Given the description of an element on the screen output the (x, y) to click on. 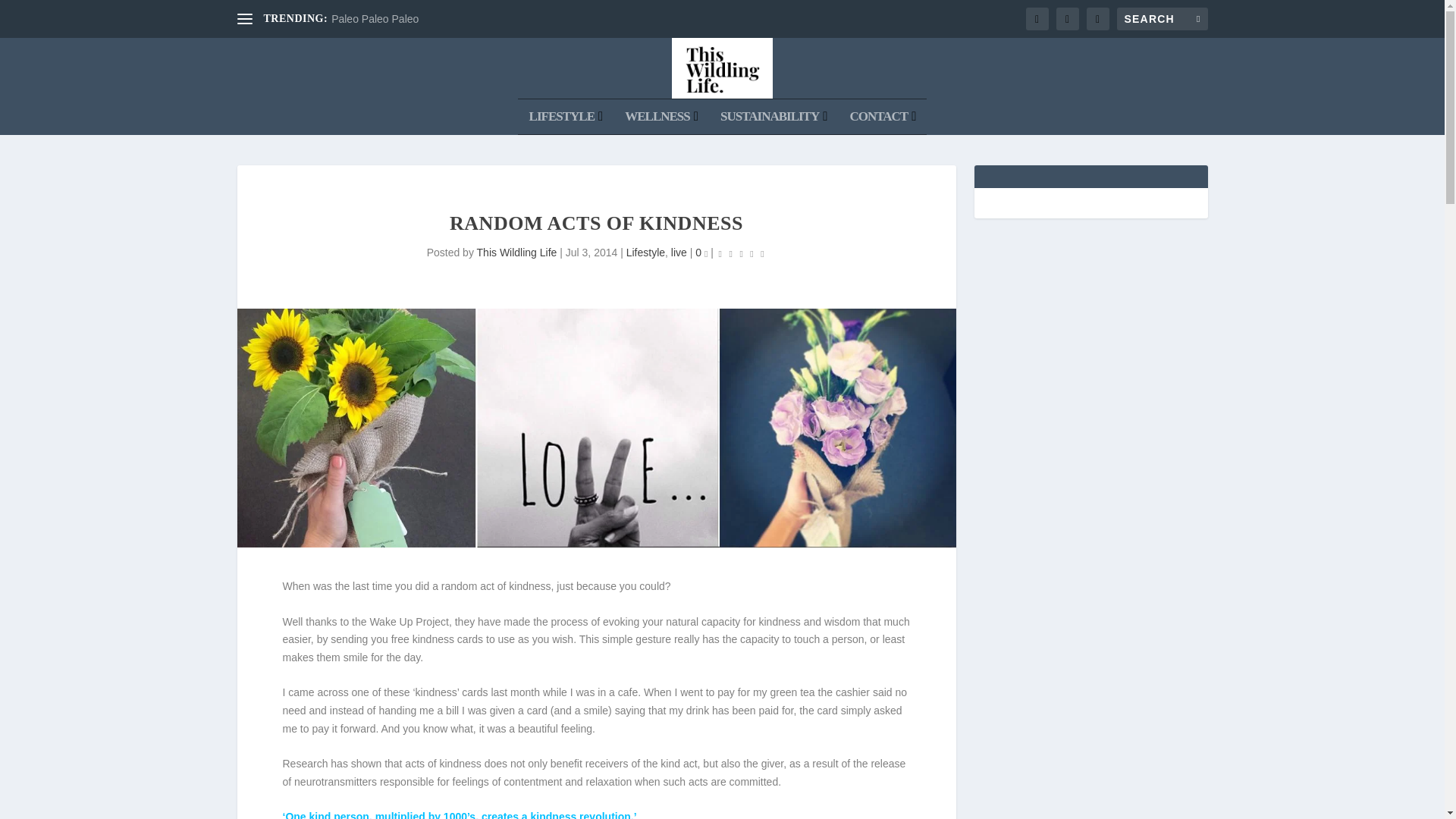
WELLNESS (660, 116)
Posts by This Wildling Life (517, 252)
Rating: 0.00 (741, 253)
Paleo Paleo Paleo (375, 19)
LIFESTYLE (565, 116)
CONTACT (881, 116)
SUSTAINABILITY (773, 116)
Search for: (1161, 18)
